Given the description of an element on the screen output the (x, y) to click on. 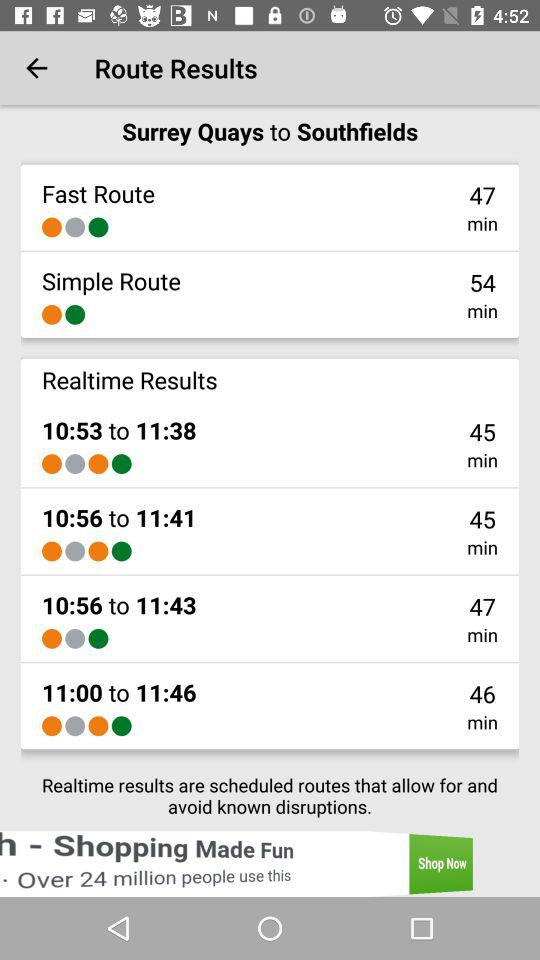
tap item above simple route item (75, 227)
